Given the description of an element on the screen output the (x, y) to click on. 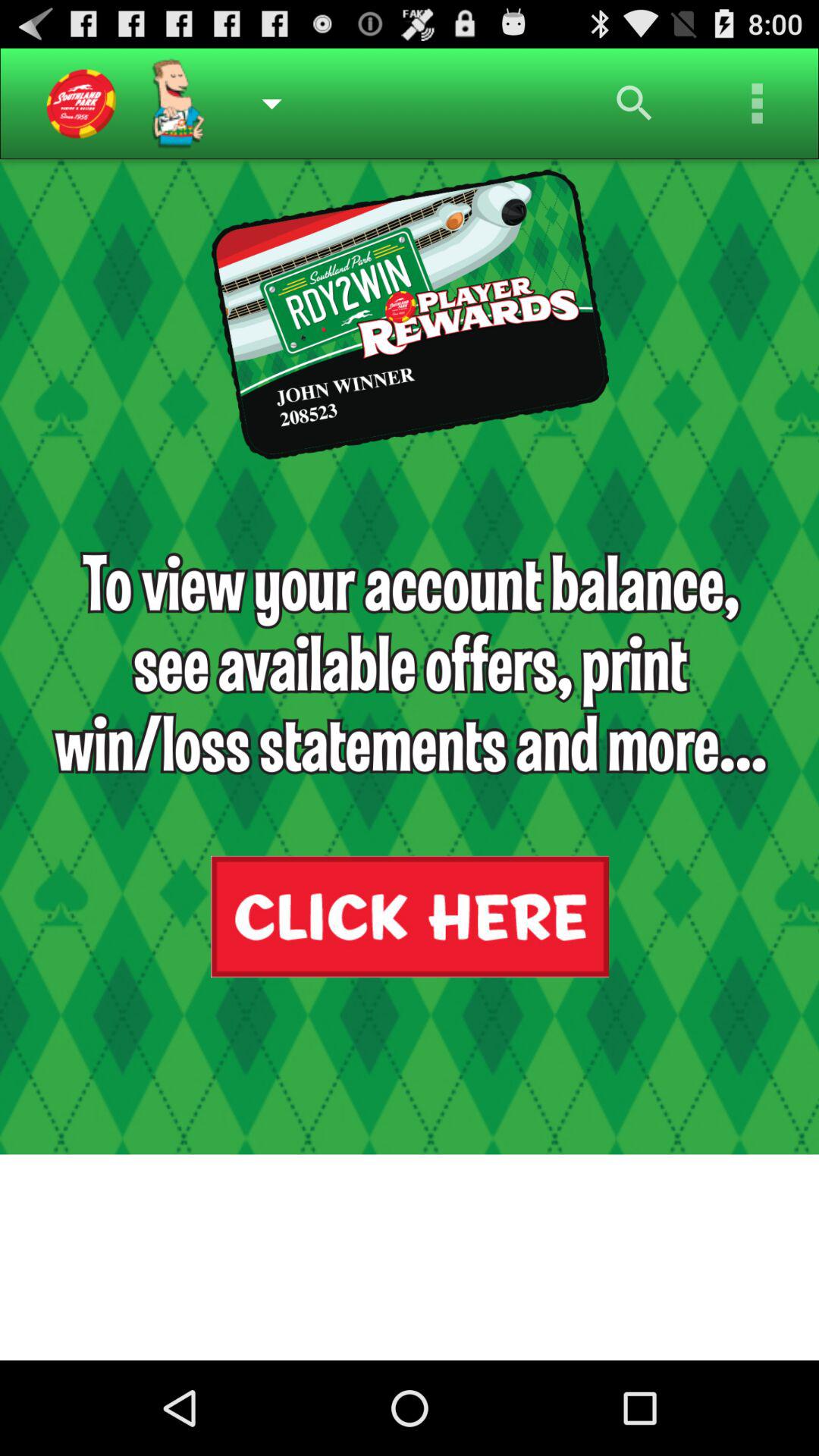
menu (757, 103)
